Given the description of an element on the screen output the (x, y) to click on. 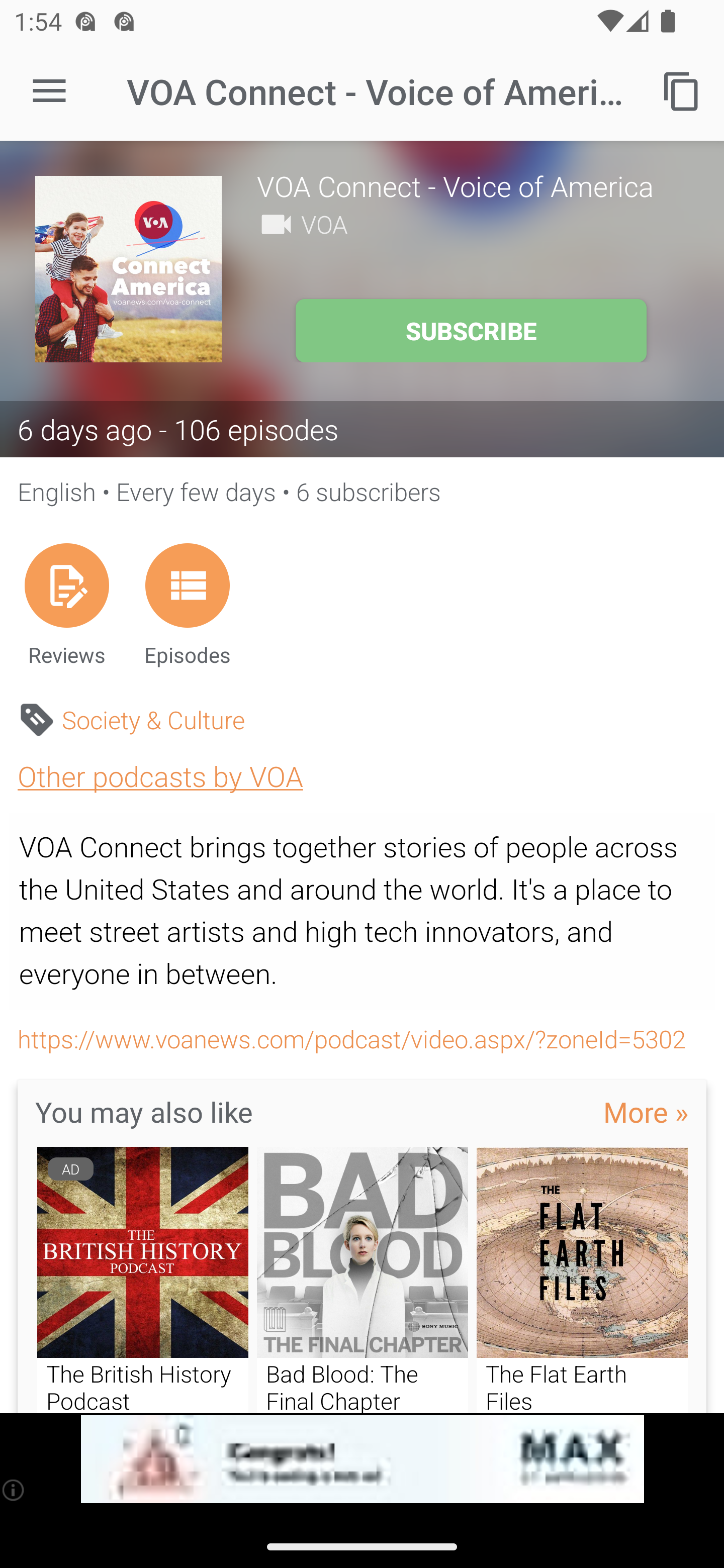
Open navigation sidebar (49, 91)
Copy feed url to clipboard (681, 90)
VOA Connect - Voice of America (472, 185)
SUBSCRIBE (470, 330)
Reviews (66, 604)
Episodes (187, 604)
Other podcasts by VOA (160, 775)
More » (645, 1111)
AD The British History Podcast (142, 1279)
Bad Blood: The Final Chapter (362, 1279)
The Flat Earth Files (581, 1279)
app-monetization (362, 1459)
(i) (14, 1489)
